Given the description of an element on the screen output the (x, y) to click on. 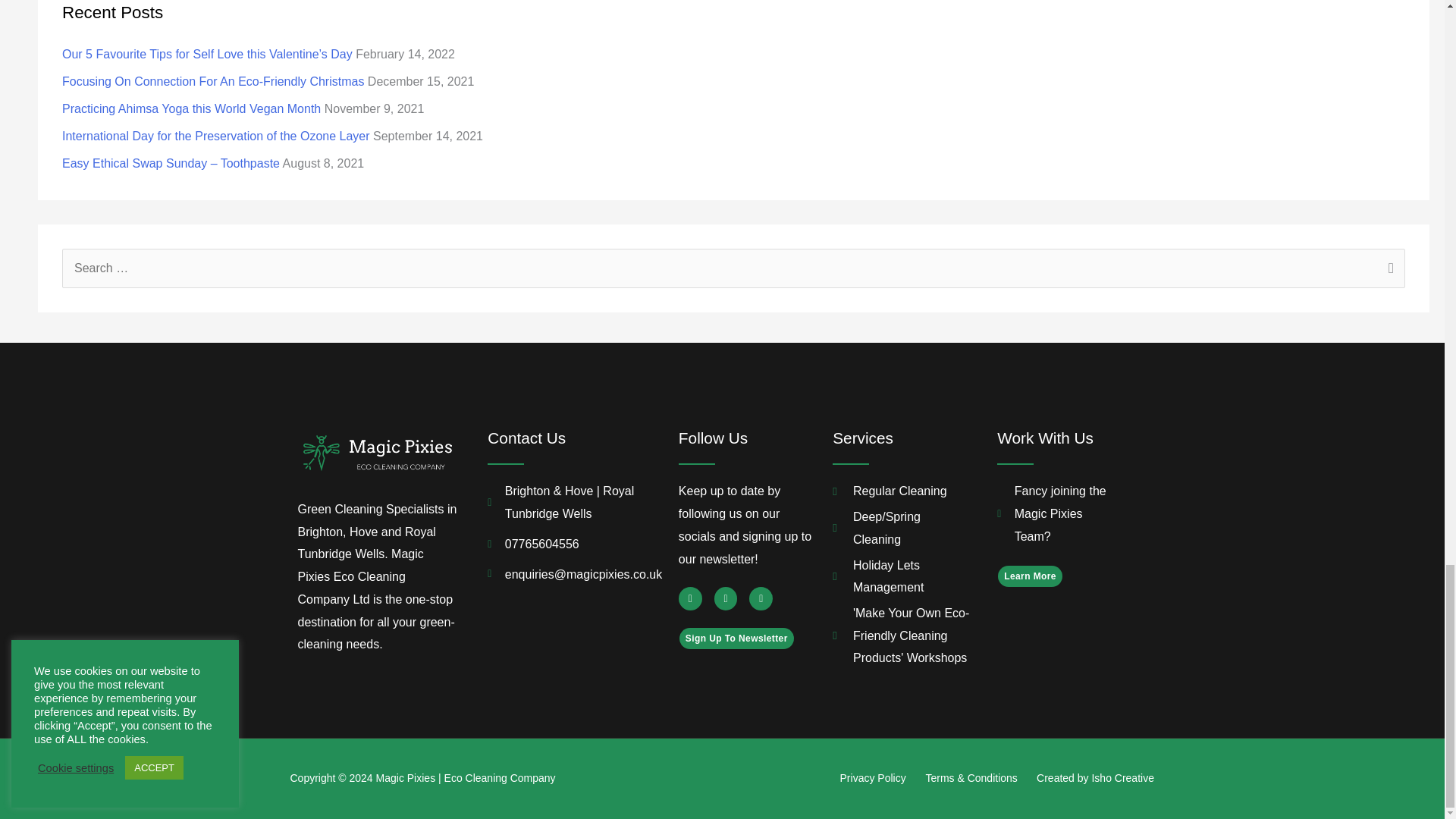
Created by Isho Creative (1095, 777)
Regular Cleaning (901, 490)
Privacy Policy (872, 777)
Practicing Ahimsa Yoga this World Vegan Month (191, 108)
07765604556 (566, 544)
Search (1388, 269)
'Make Your Own Eco-Friendly Cleaning Products' Workshops (901, 635)
Holiday Lets Management (901, 576)
Search (1388, 269)
Focusing On Connection For An Eco-Friendly Christmas (213, 81)
Search (1388, 269)
Learn More (1029, 576)
Fancy joining the Magic Pixies Team? (1052, 513)
International Day for the Preservation of the Ozone Layer (215, 135)
Sign Up To Newsletter (736, 638)
